Given the description of an element on the screen output the (x, y) to click on. 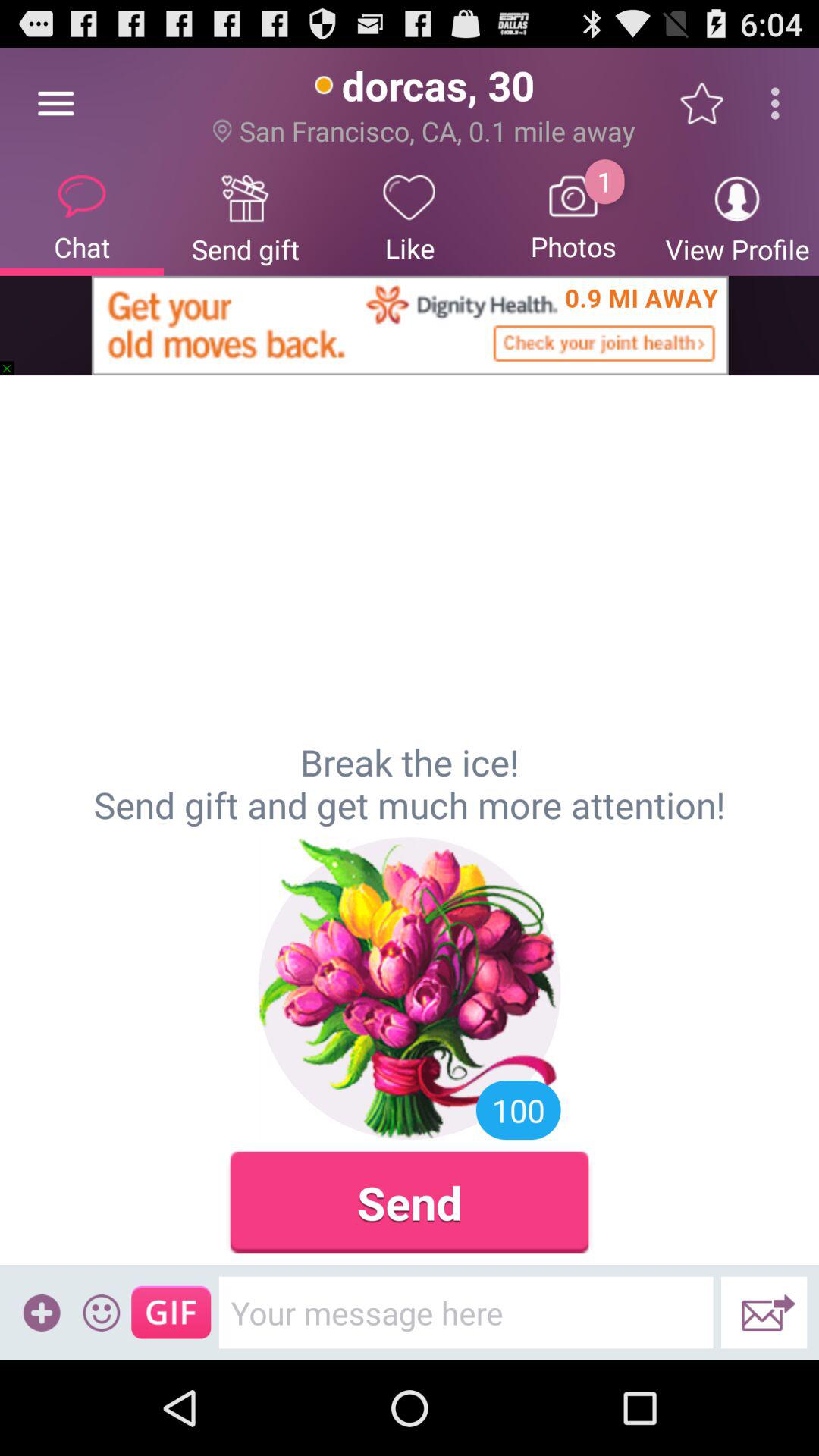
select item below the chat item (409, 325)
